Given the description of an element on the screen output the (x, y) to click on. 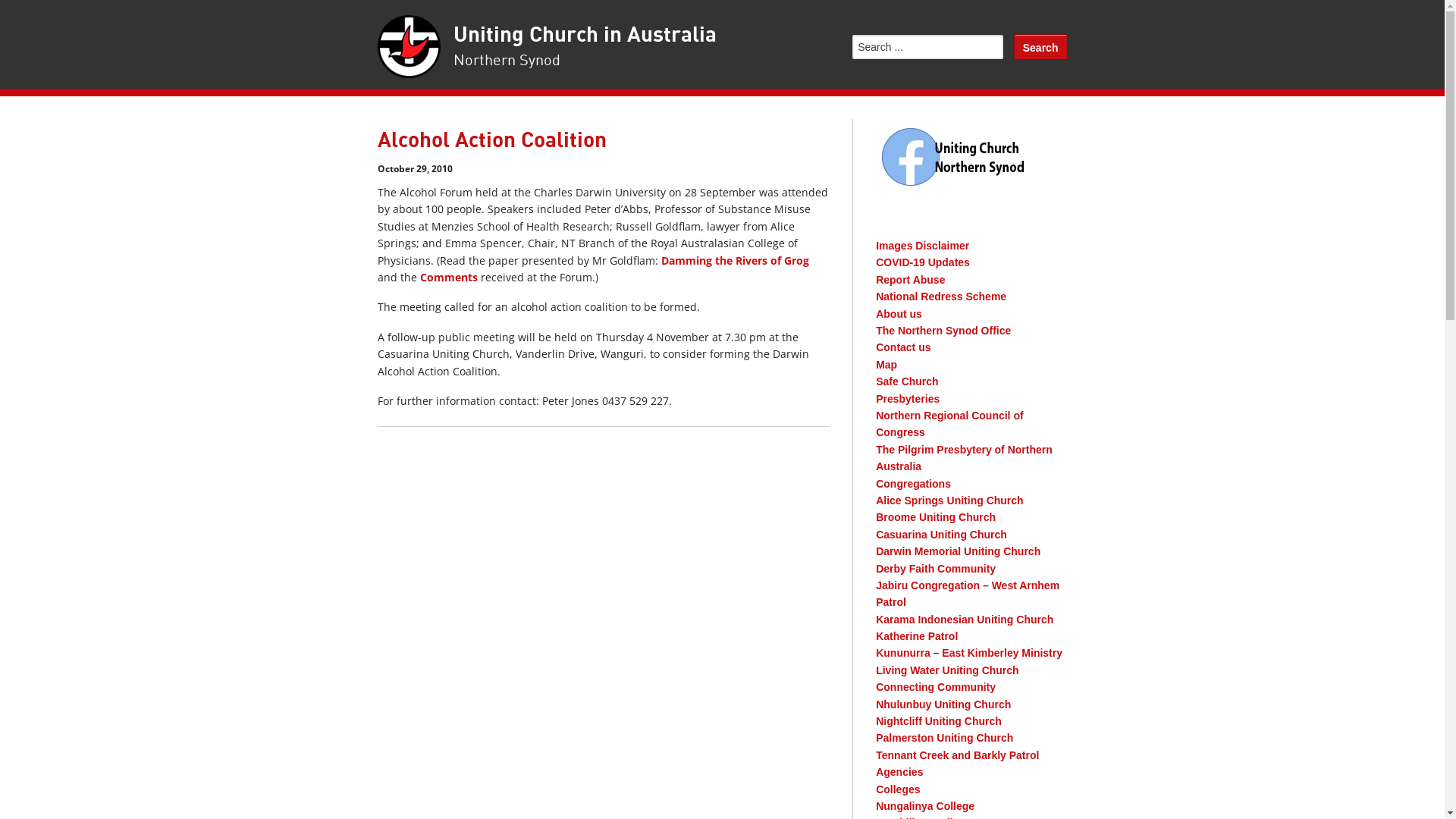
Palmerston Uniting Church Element type: text (944, 737)
Nhulunbuy Uniting Church Element type: text (942, 704)
Darwin Memorial Uniting Church Element type: text (957, 551)
Nightcliff Uniting Church Element type: text (938, 721)
Map Element type: text (886, 364)
Presbyteries Element type: text (907, 398)
Contact us Element type: text (902, 347)
Uniting Church in Australia
Northern Synod Element type: text (584, 47)
Northern Regional Council of Congress Element type: text (948, 423)
Report Abuse Element type: text (909, 279)
Tennant Creek and Barkly Patrol Element type: text (956, 755)
Katherine Patrol Element type: text (916, 636)
Derby Faith Community Element type: text (935, 568)
Damming the Rivers of Grog Element type: text (735, 260)
The Northern Synod Office Element type: text (942, 330)
The Pilgrim Presbytery of Northern Australia Element type: text (963, 457)
Living Water Uniting Church Connecting Community Element type: text (946, 678)
Agencies Element type: text (898, 771)
About us Element type: text (898, 313)
Alcohol Action Coalition Element type: text (491, 140)
Search Element type: text (1040, 46)
Images Disclaimer Element type: text (922, 245)
National Redress Scheme Element type: text (940, 296)
Nungalinya College Element type: text (924, 806)
Safe Church Element type: text (906, 381)
Congregations Element type: text (912, 483)
Broome Uniting Church Element type: text (935, 517)
Casuarina Uniting Church Element type: text (941, 534)
Alice Springs Uniting Church Element type: text (948, 500)
Colleges Element type: text (897, 789)
Comments Element type: text (448, 276)
COVID-19 Updates Element type: text (922, 262)
Karama Indonesian Uniting Church Element type: text (964, 619)
